Given the description of an element on the screen output the (x, y) to click on. 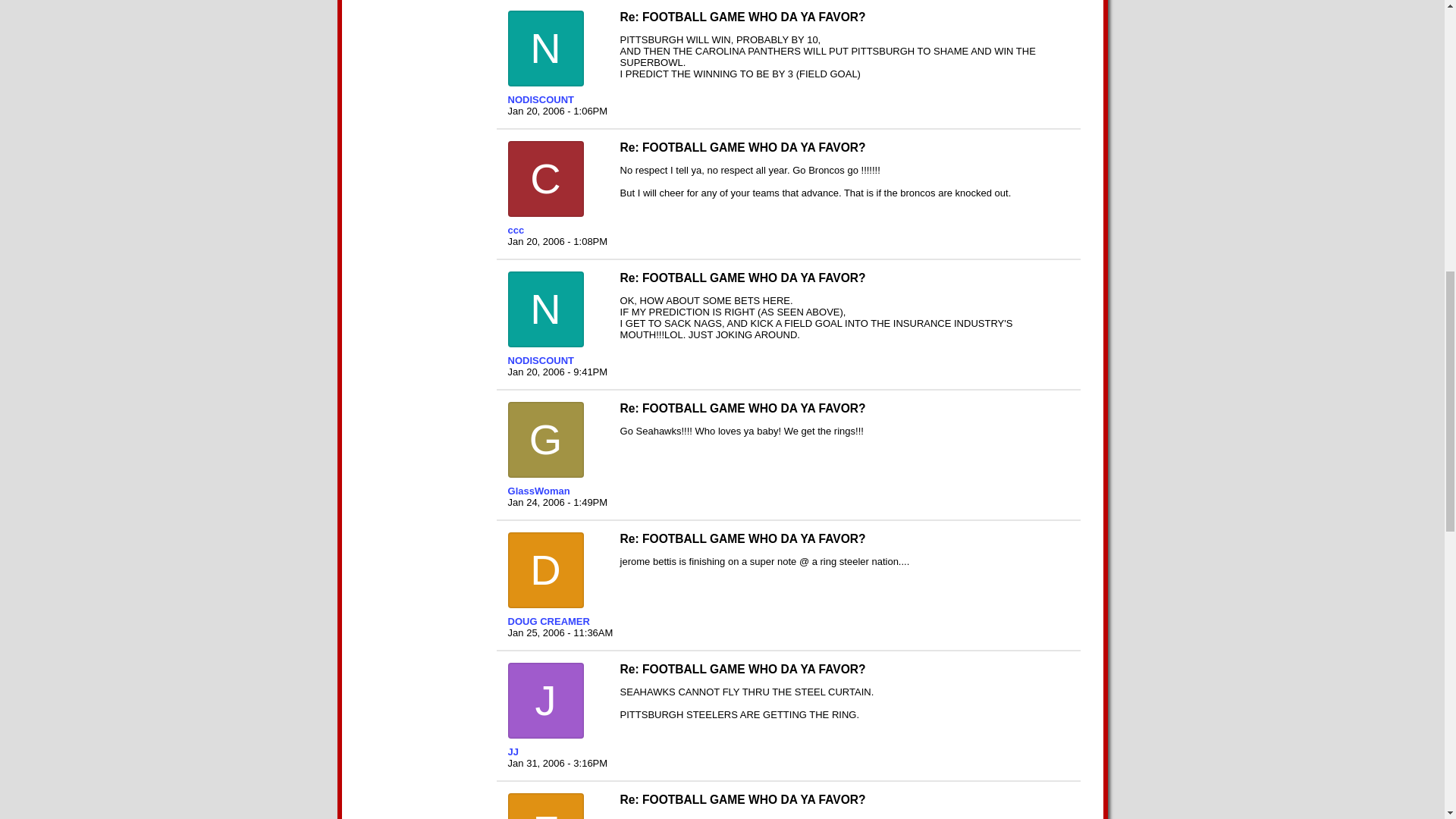
GlassWoman (557, 490)
Messages from this User (540, 99)
ccc (557, 229)
NODISCOUNT (557, 360)
DOUG CREAMER (557, 621)
NODISCOUNT (557, 99)
JJ (557, 751)
Messages from this User (540, 360)
Messages from this User (516, 229)
Messages from this User (513, 751)
Messages from this User (548, 621)
Messages from this User (539, 490)
